Given the description of an element on the screen output the (x, y) to click on. 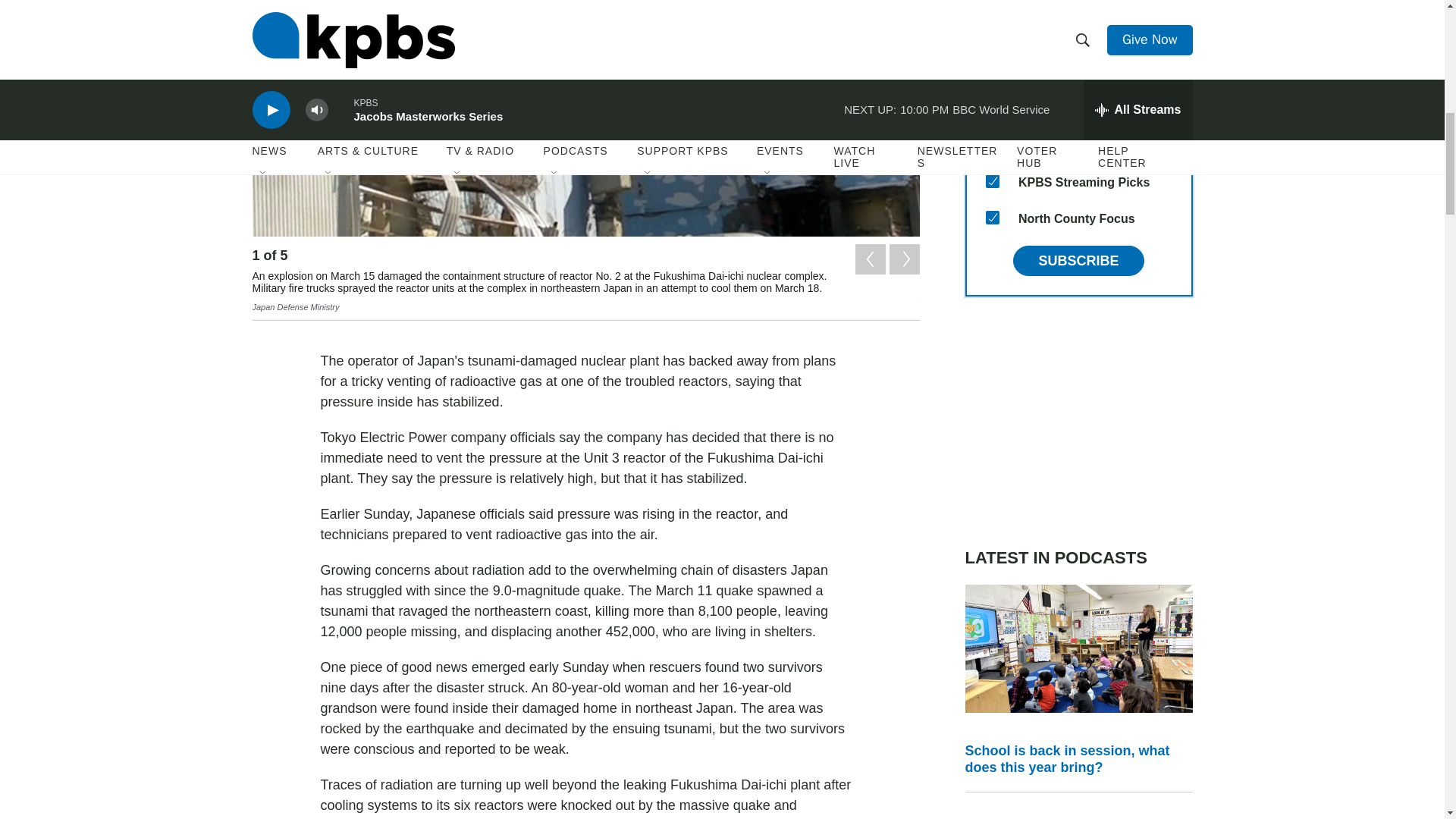
4 (991, 2)
6 (991, 71)
2 (991, 108)
15 (991, 217)
8 (991, 181)
5 (991, 35)
1 (991, 144)
